Given the description of an element on the screen output the (x, y) to click on. 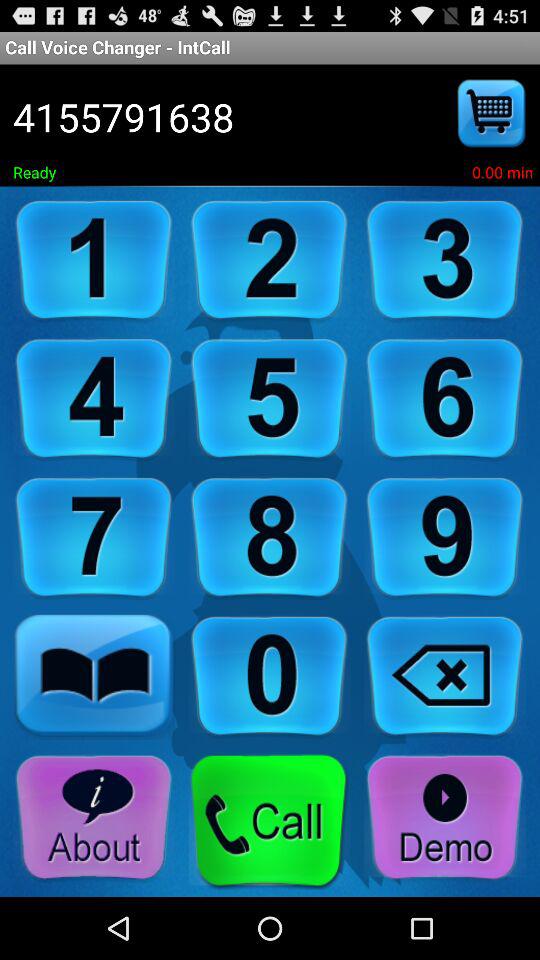
click 8 button (269, 538)
